Given the description of an element on the screen output the (x, y) to click on. 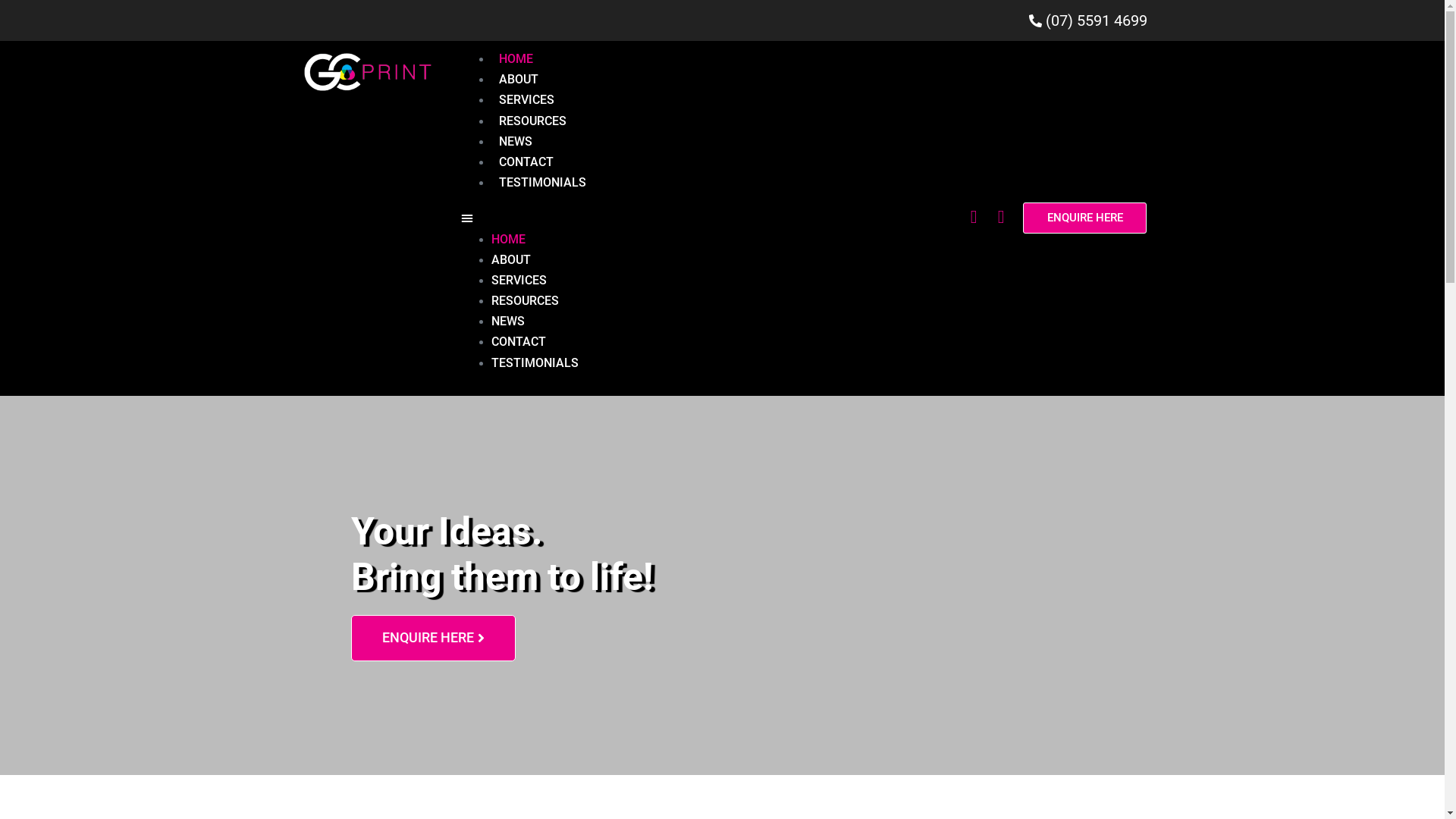
RESOURCES Element type: text (524, 300)
(07) 5591 4699 Element type: text (721, 20)
HOME Element type: text (515, 58)
ENQUIRE HERE Element type: text (432, 638)
CONTACT Element type: text (526, 161)
TESTIMONIALS Element type: text (534, 362)
SERVICES Element type: text (518, 280)
NEWS Element type: text (515, 141)
CONTACT Element type: text (518, 341)
TESTIMONIALS Element type: text (542, 182)
RESOURCES Element type: text (532, 120)
ENQUIRE HERE Element type: text (1084, 217)
ABOUT Element type: text (518, 79)
NEWS Element type: text (507, 320)
HOME Element type: text (508, 239)
ABOUT Element type: text (510, 259)
SERVICES Element type: text (526, 99)
